Given the description of an element on the screen output the (x, y) to click on. 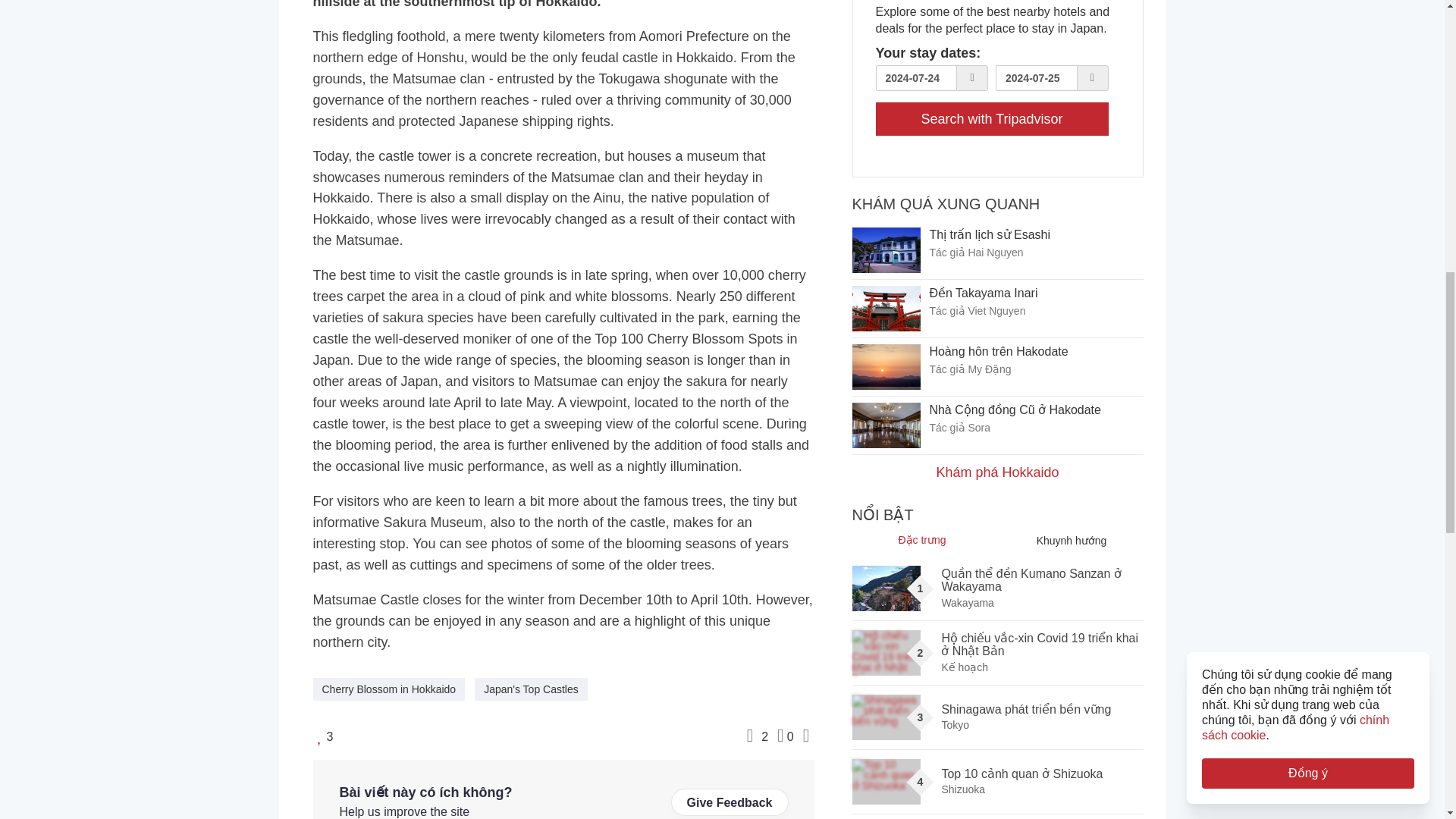
2024-07-25 (1036, 77)
2024-07-24 (915, 77)
0 (785, 735)
